Given the description of an element on the screen output the (x, y) to click on. 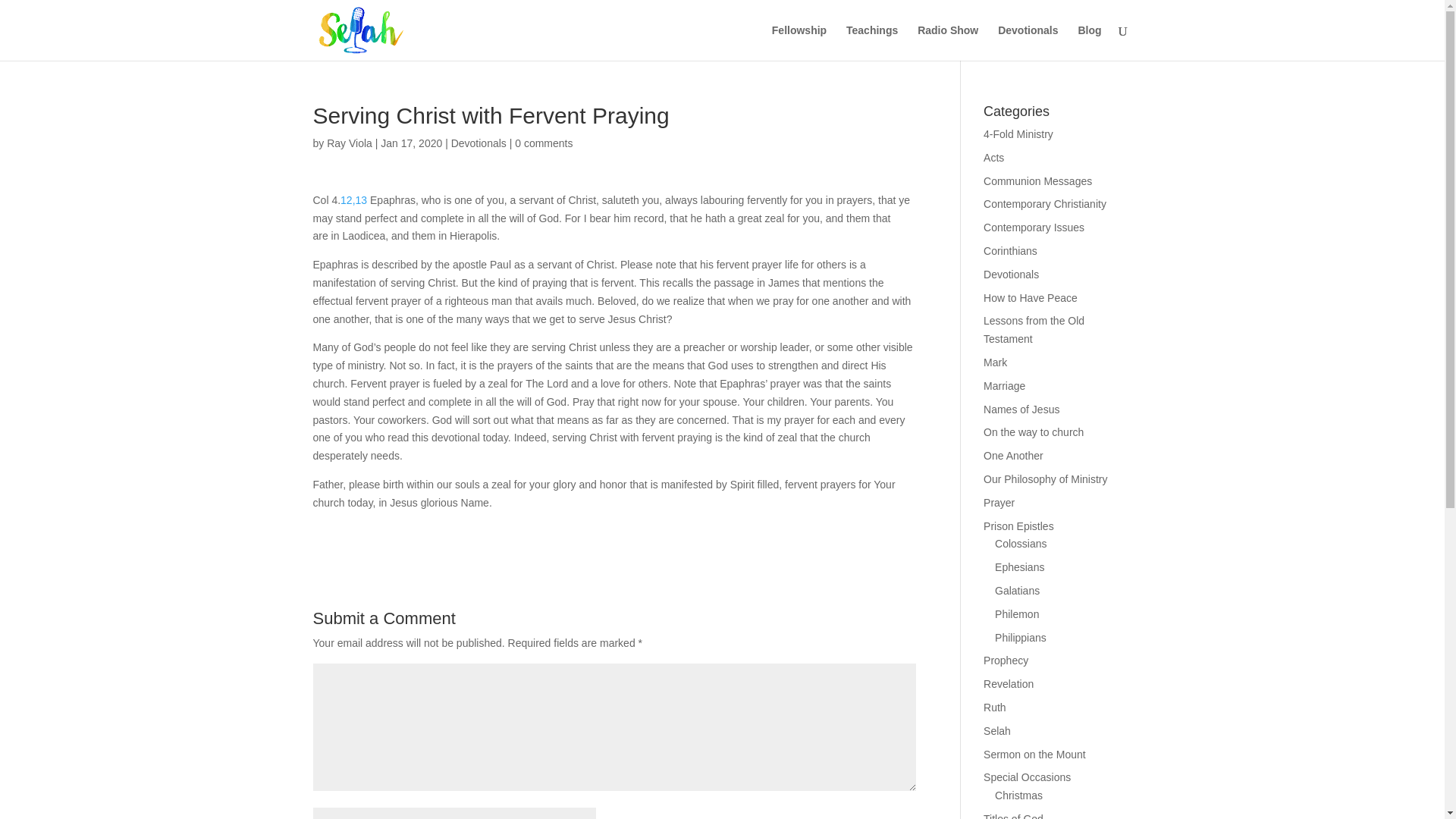
Galatians (1016, 590)
Prison Epistles (1019, 526)
On the way to church (1033, 431)
Fellowship (799, 42)
Our Philosophy of Ministry (1045, 479)
Communion Messages (1038, 181)
Lessons from the Old Testament (1034, 329)
0 comments (543, 143)
Philippians (1020, 637)
Names of Jesus (1021, 409)
Prayer (999, 502)
Prophecy (1005, 660)
12,13  (354, 200)
Colossians (1020, 543)
Teachings (871, 42)
